Given the description of an element on the screen output the (x, y) to click on. 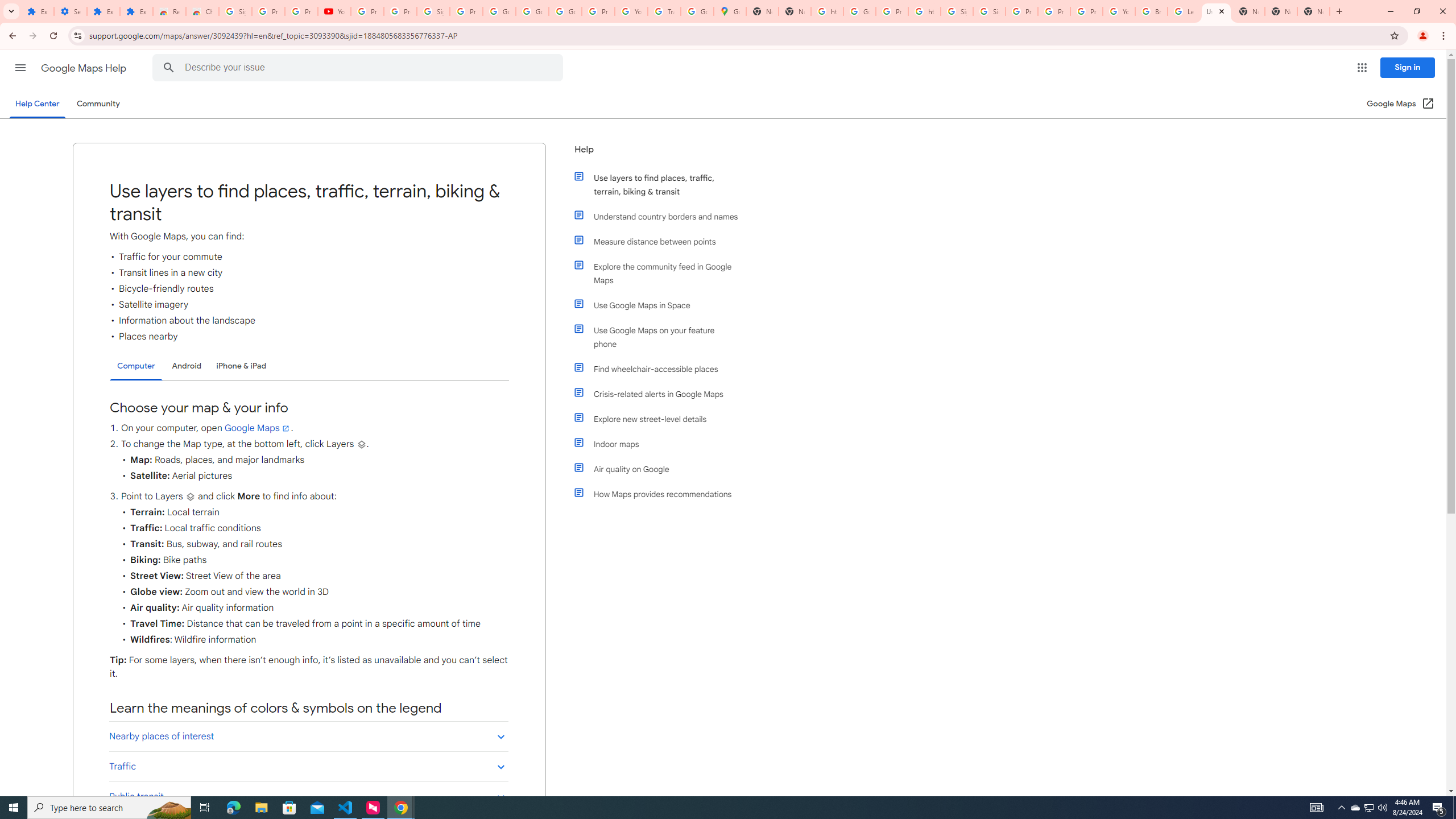
Extensions (103, 11)
Layers (189, 496)
YouTube (631, 11)
Settings (70, 11)
How Maps provides recommendations (661, 493)
Computer (136, 366)
Use Google Maps in Space (661, 305)
Sign in - Google Accounts (957, 11)
Help Center (36, 103)
Community (97, 103)
